Given the description of an element on the screen output the (x, y) to click on. 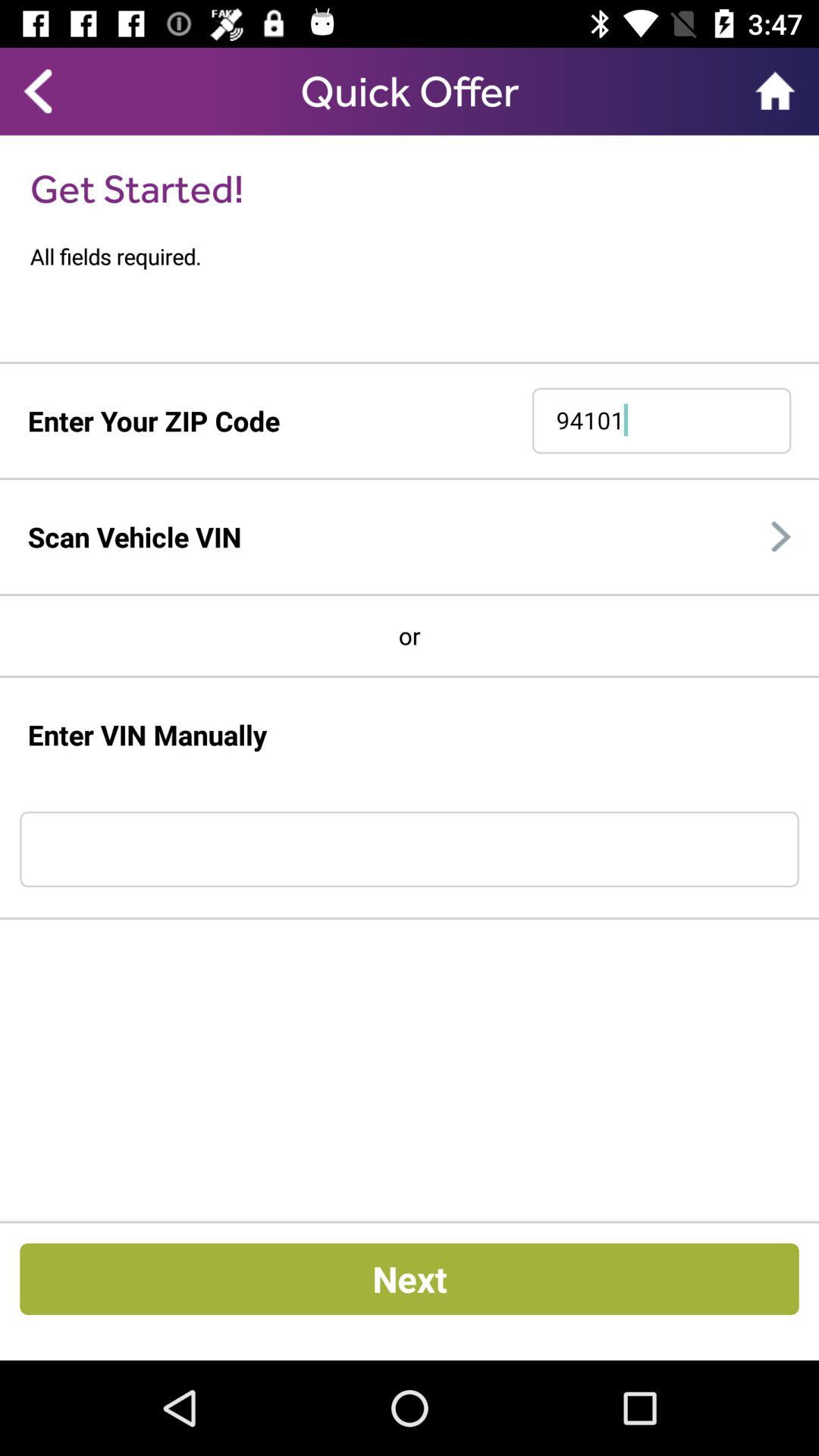
tap the quick offer (409, 90)
